Given the description of an element on the screen output the (x, y) to click on. 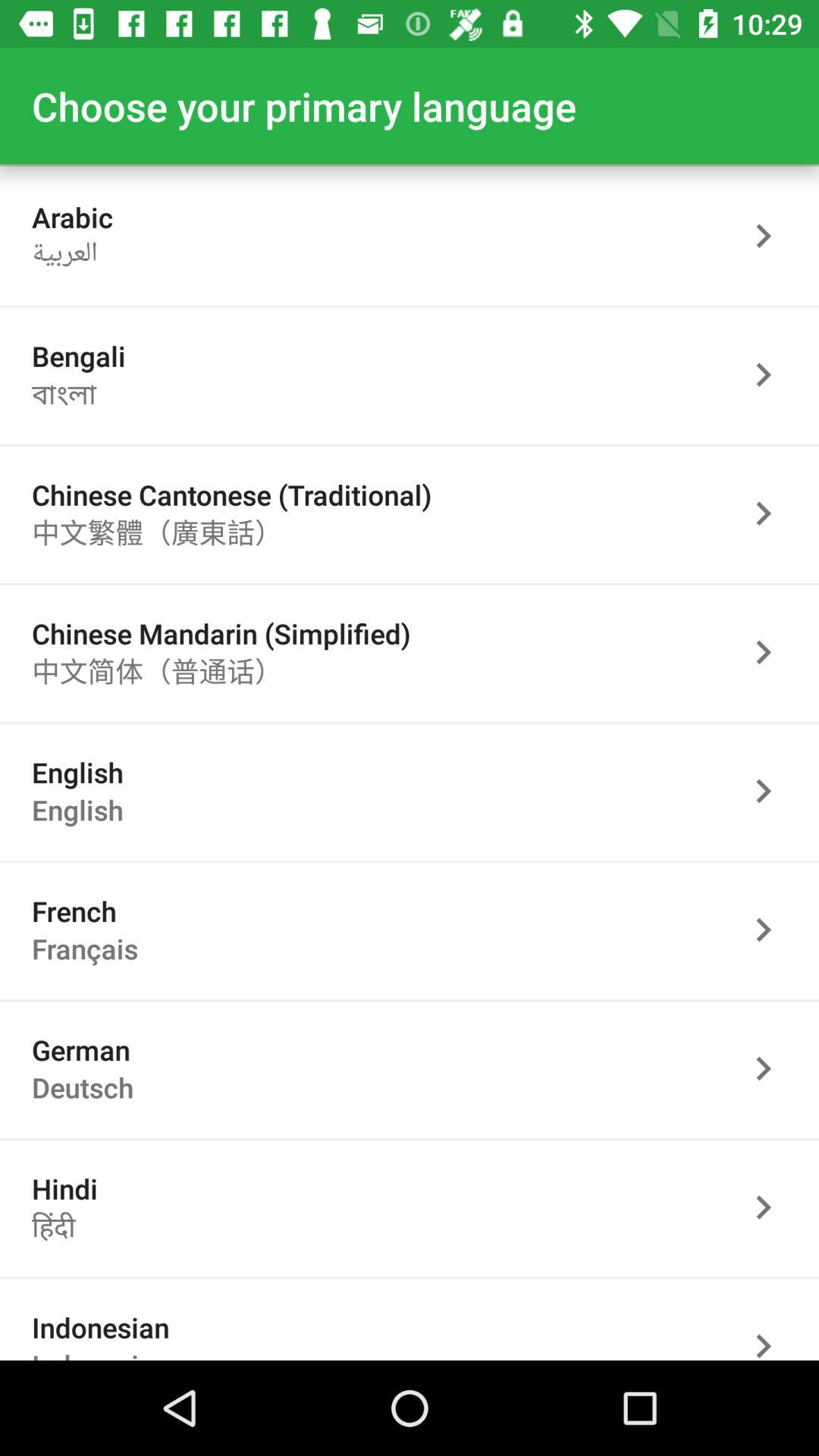
go to german language (771, 1068)
